Given the description of an element on the screen output the (x, y) to click on. 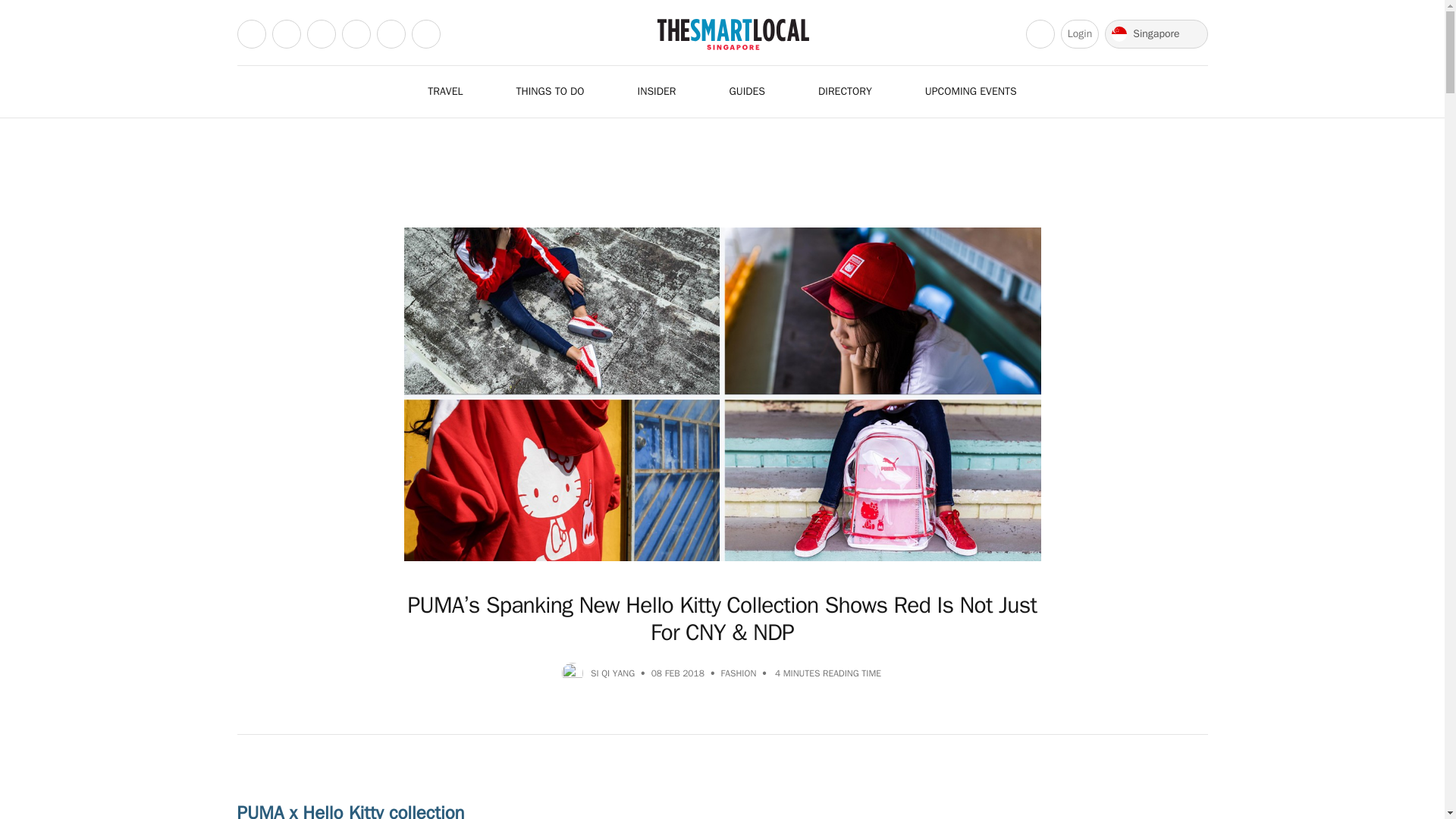
Posts by Si Qi Yang (612, 673)
Singapore (1156, 33)
Login (1080, 33)
TRAVEL (453, 91)
Open search popup (1040, 33)
